Given the description of an element on the screen output the (x, y) to click on. 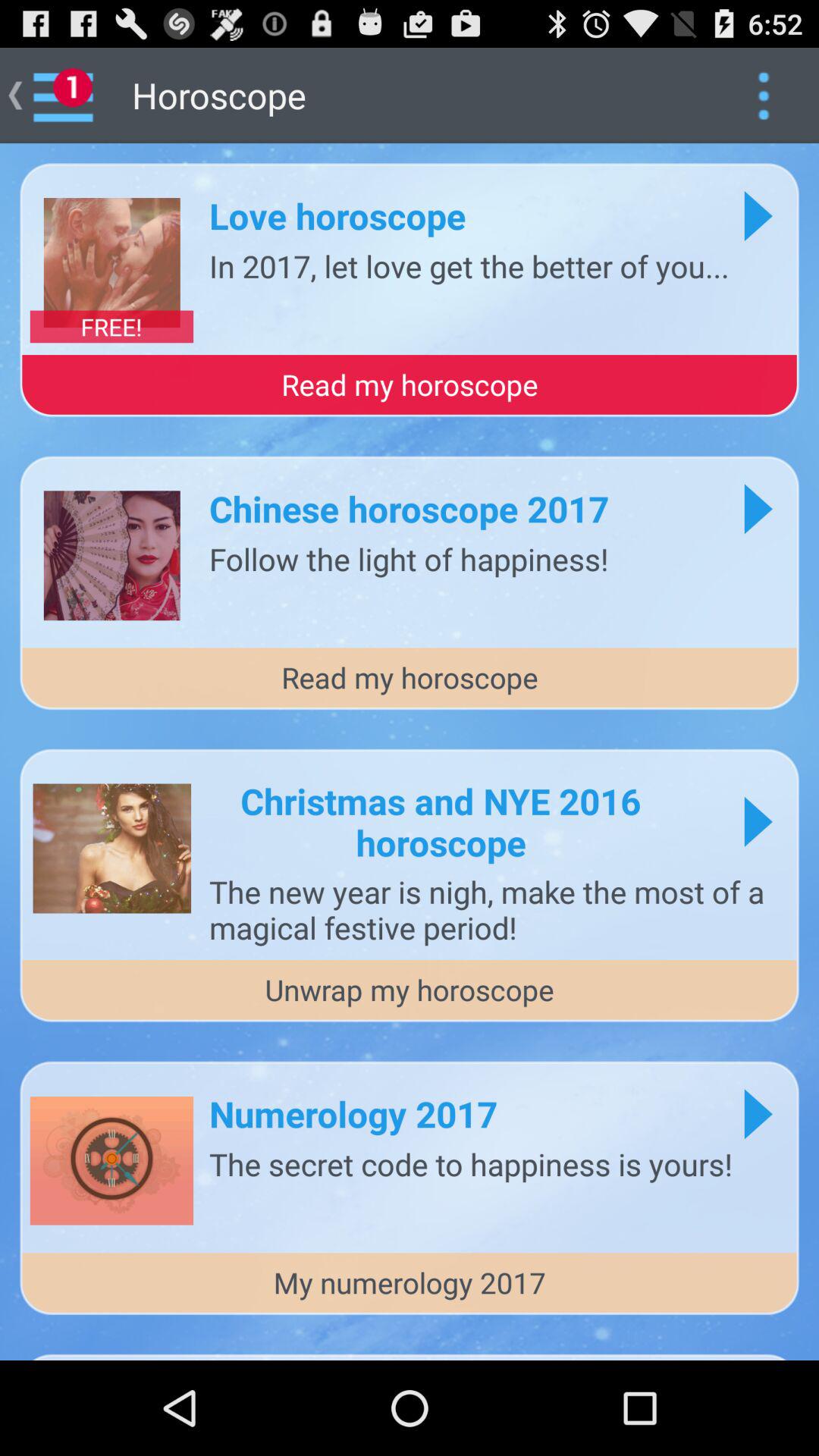
click the icon above the read my horoscope (111, 326)
